Given the description of an element on the screen output the (x, y) to click on. 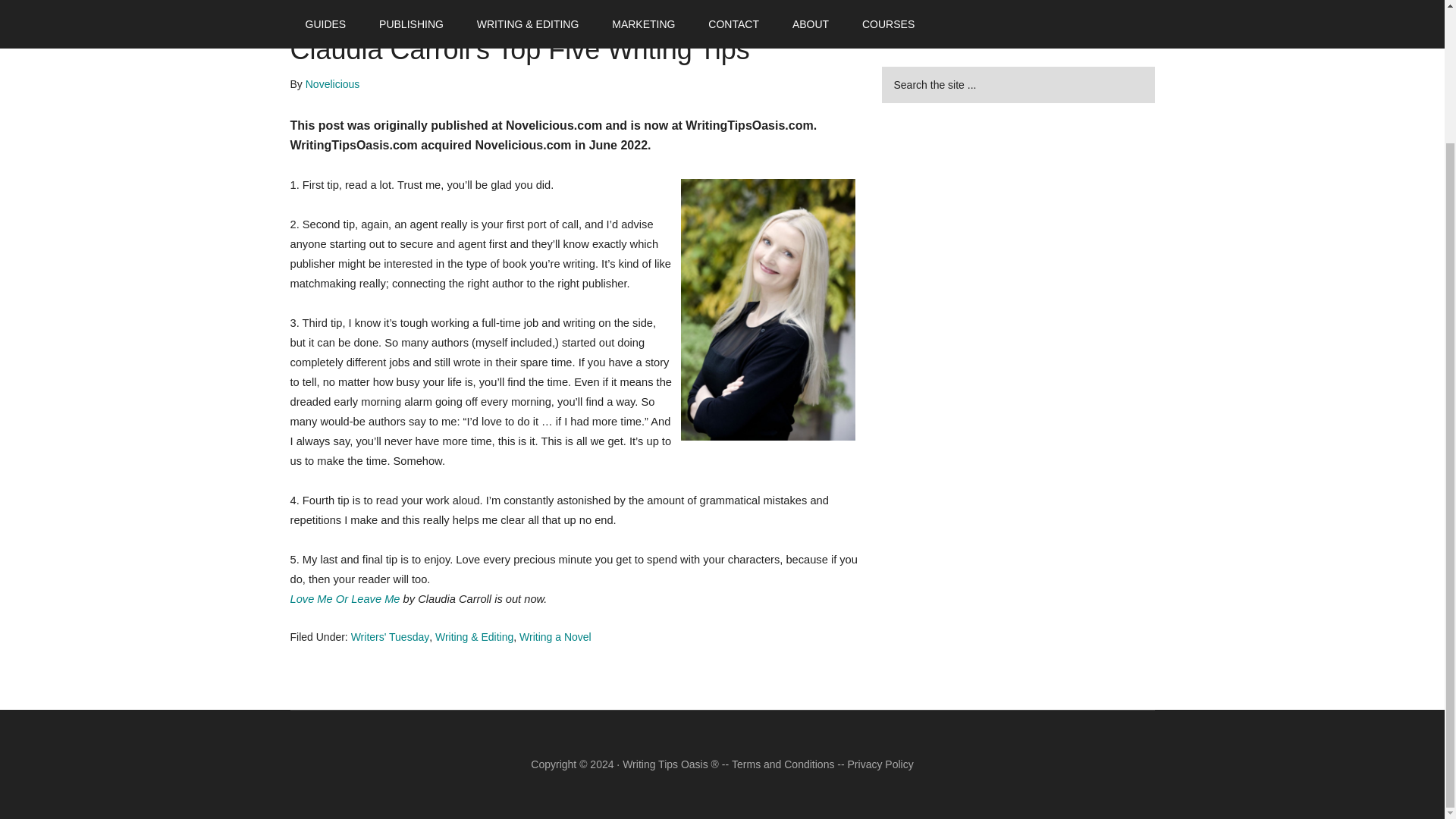
Writing a Novel (555, 636)
Privacy Policy (880, 764)
Terms and Conditions (783, 764)
Love Me Or Leave Me by Claudia Carroll (343, 598)
Love Me Or Leave Me (343, 598)
Novelicious (332, 83)
Writers' Tuesday (389, 636)
